Given the description of an element on the screen output the (x, y) to click on. 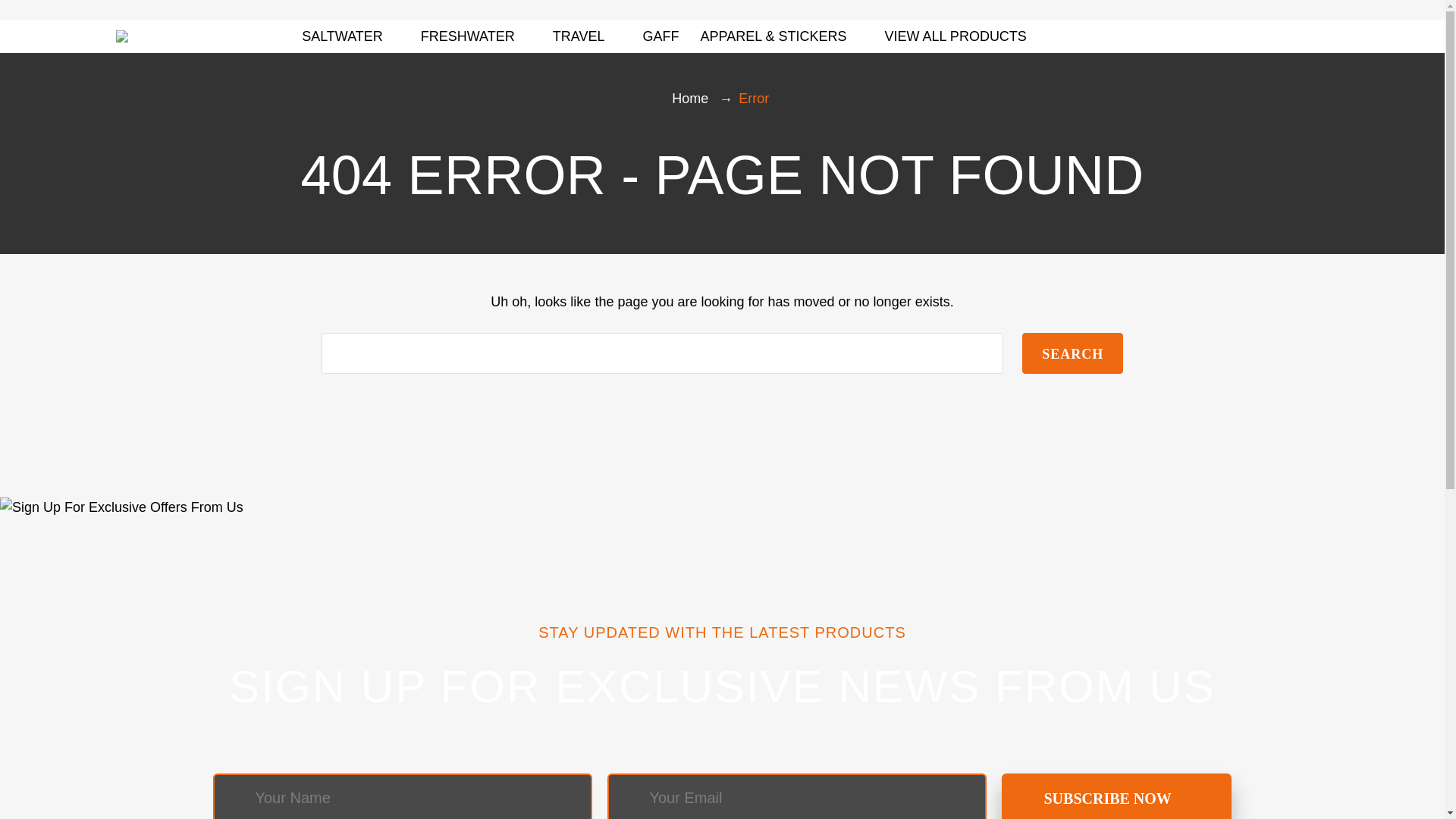
SALTWATER (349, 35)
User Account (1269, 36)
FRESHWATER (475, 35)
Search (1072, 352)
Black Hole USA (121, 36)
